Given the description of an element on the screen output the (x, y) to click on. 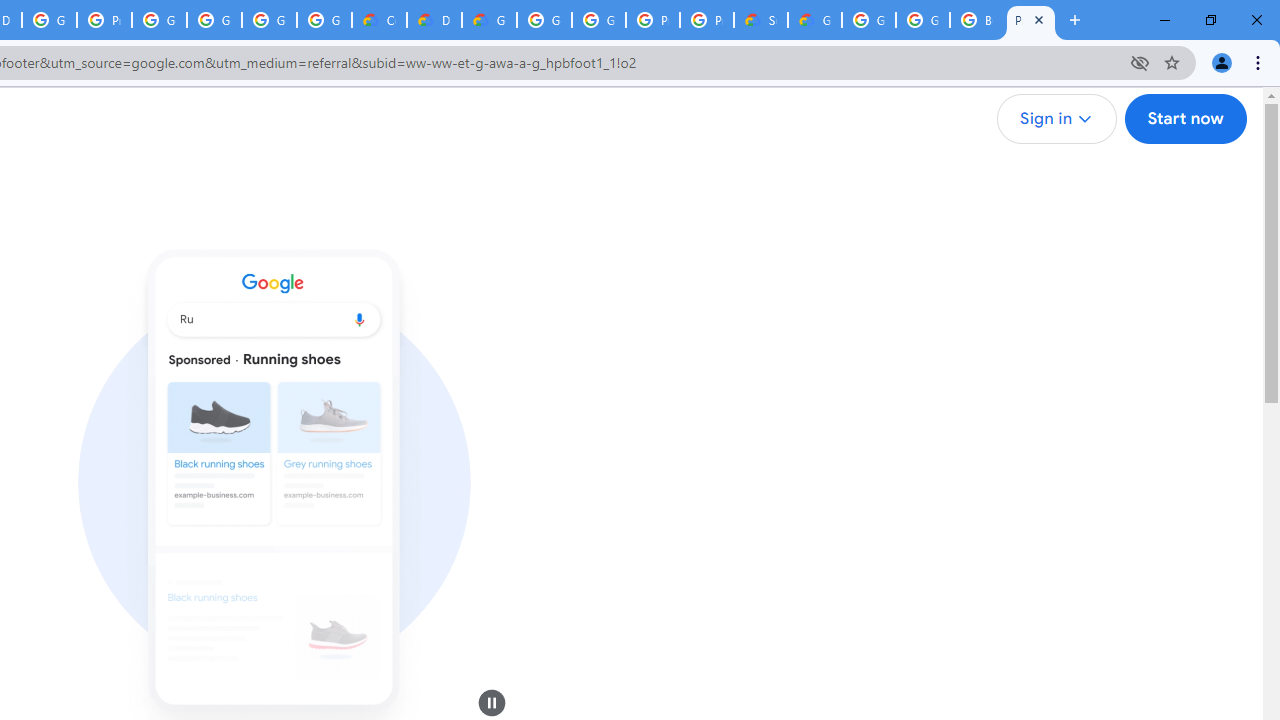
Support Hub | Google Cloud (760, 20)
Start now (1184, 119)
Customer Care | Google Cloud (379, 20)
Gemini for Business and Developers | Google Cloud (489, 20)
Google Workspace - Specific Terms (268, 20)
